Given the description of an element on the screen output the (x, y) to click on. 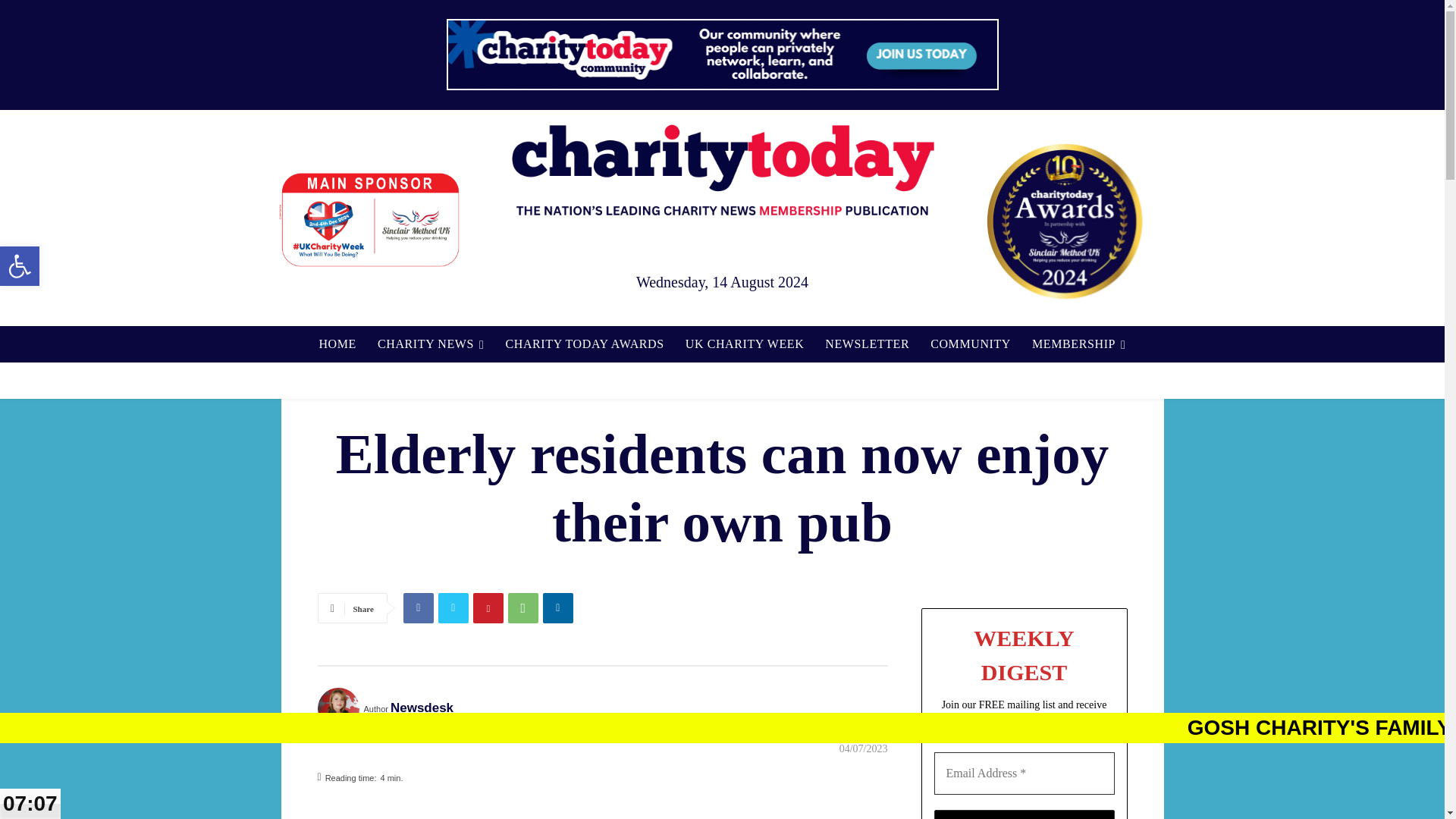
Accessibility Tools (19, 265)
HOME (19, 265)
Join Newsletter (336, 343)
CHARITY NEWS (1024, 814)
Charity Today Awards logo (430, 343)
Accessibility Tools (1064, 221)
